Given the description of an element on the screen output the (x, y) to click on. 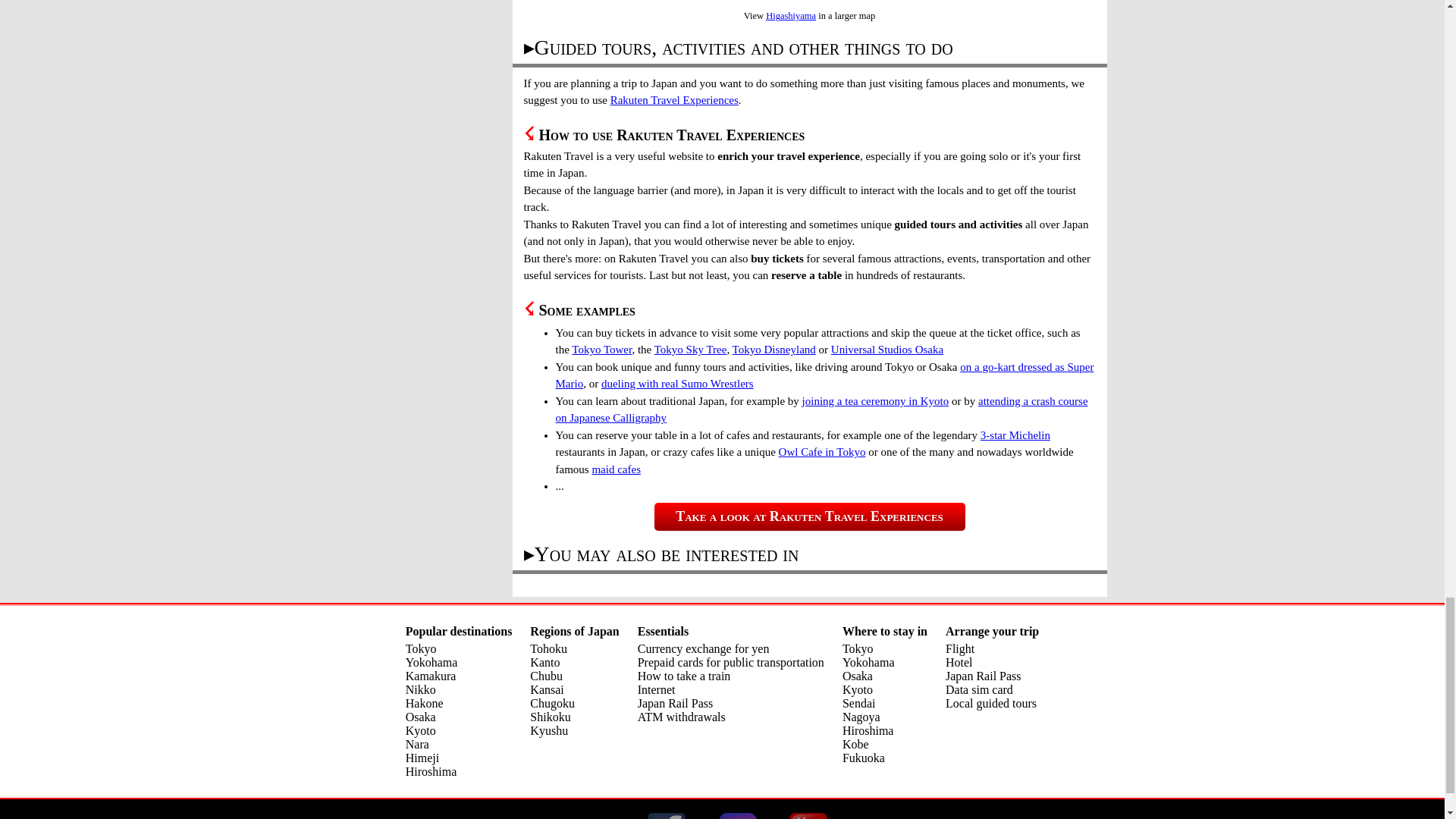
Youtube channel (808, 816)
Facebook (666, 816)
